Given the description of an element on the screen output the (x, y) to click on. 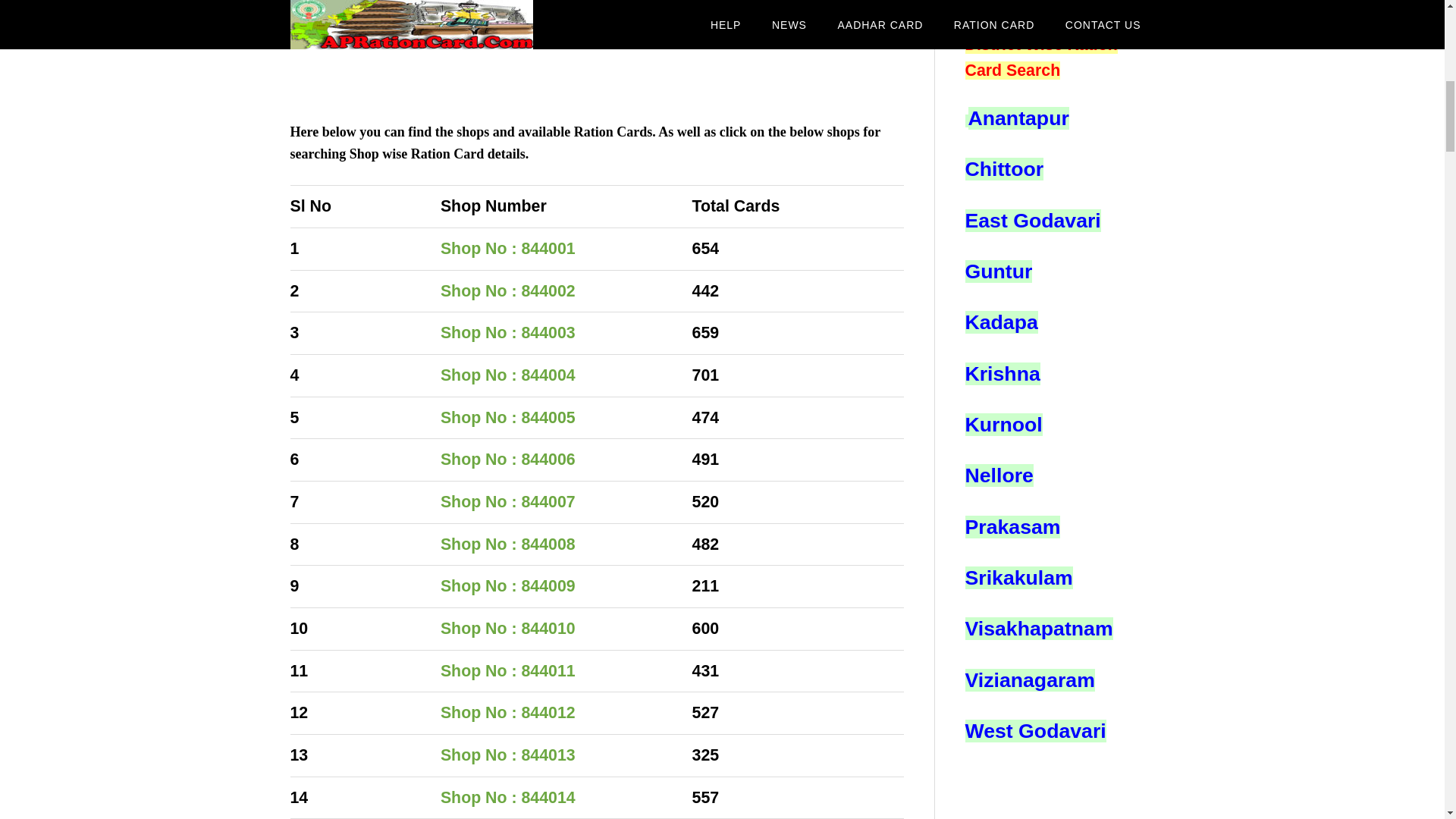
Shop No : 844001 (508, 248)
Shop No : 844004 (508, 375)
Shop No : 844009 (508, 586)
Advertisement (1058, 787)
Shop No : 844003 (508, 332)
Shop No : 844002 (508, 290)
Shop No : 844006 (508, 459)
Shop No : 844005 (508, 417)
Shop No : 844007 (508, 502)
Advertisement (595, 60)
Shop No : 844008 (508, 544)
